Given the description of an element on the screen output the (x, y) to click on. 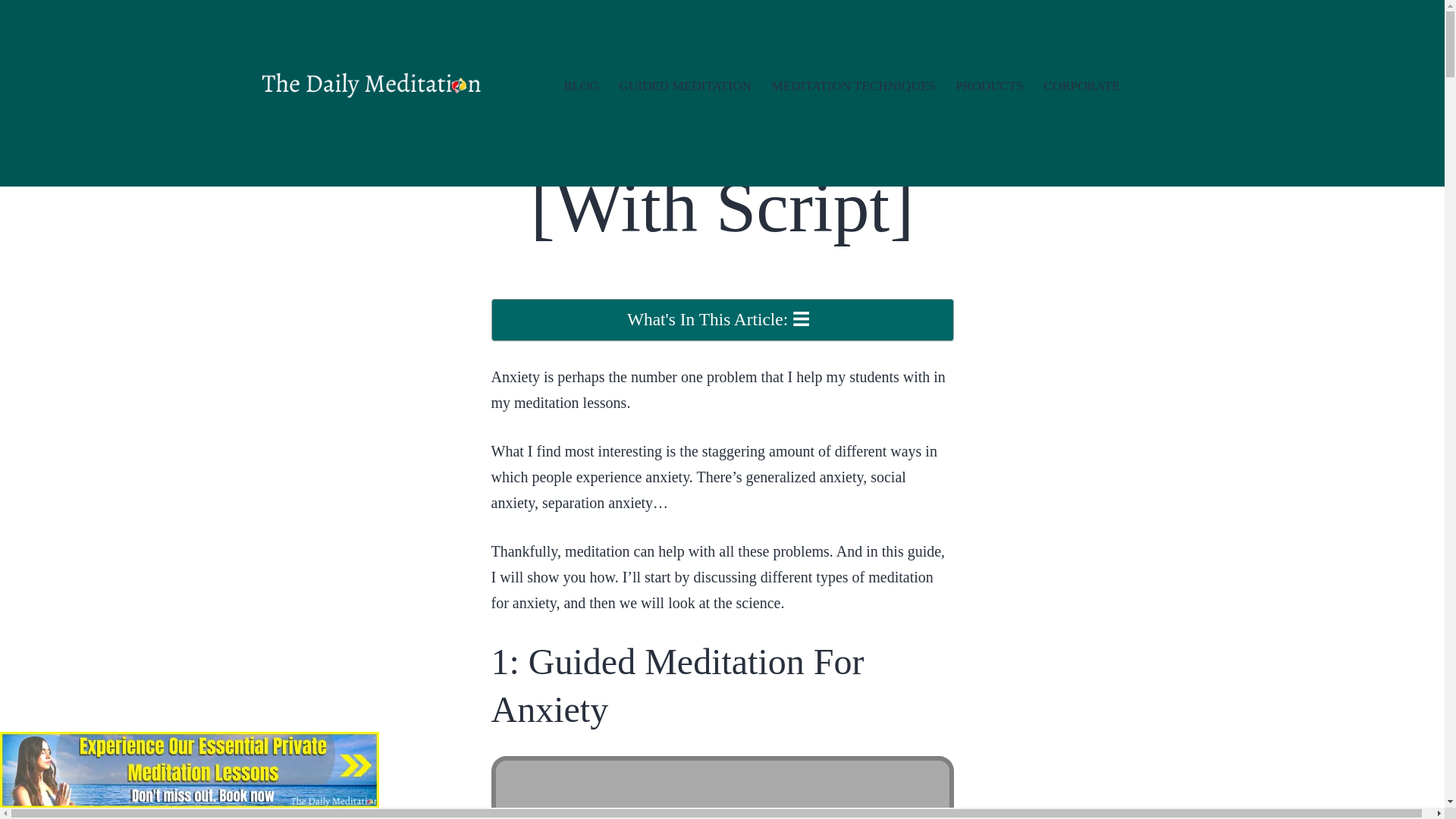
CORPORATE (1081, 86)
GUIDED MEDITATION (684, 86)
MEDITATION TECHNIQUES (852, 86)
BLOG (580, 86)
PRODUCTS (988, 86)
